Given the description of an element on the screen output the (x, y) to click on. 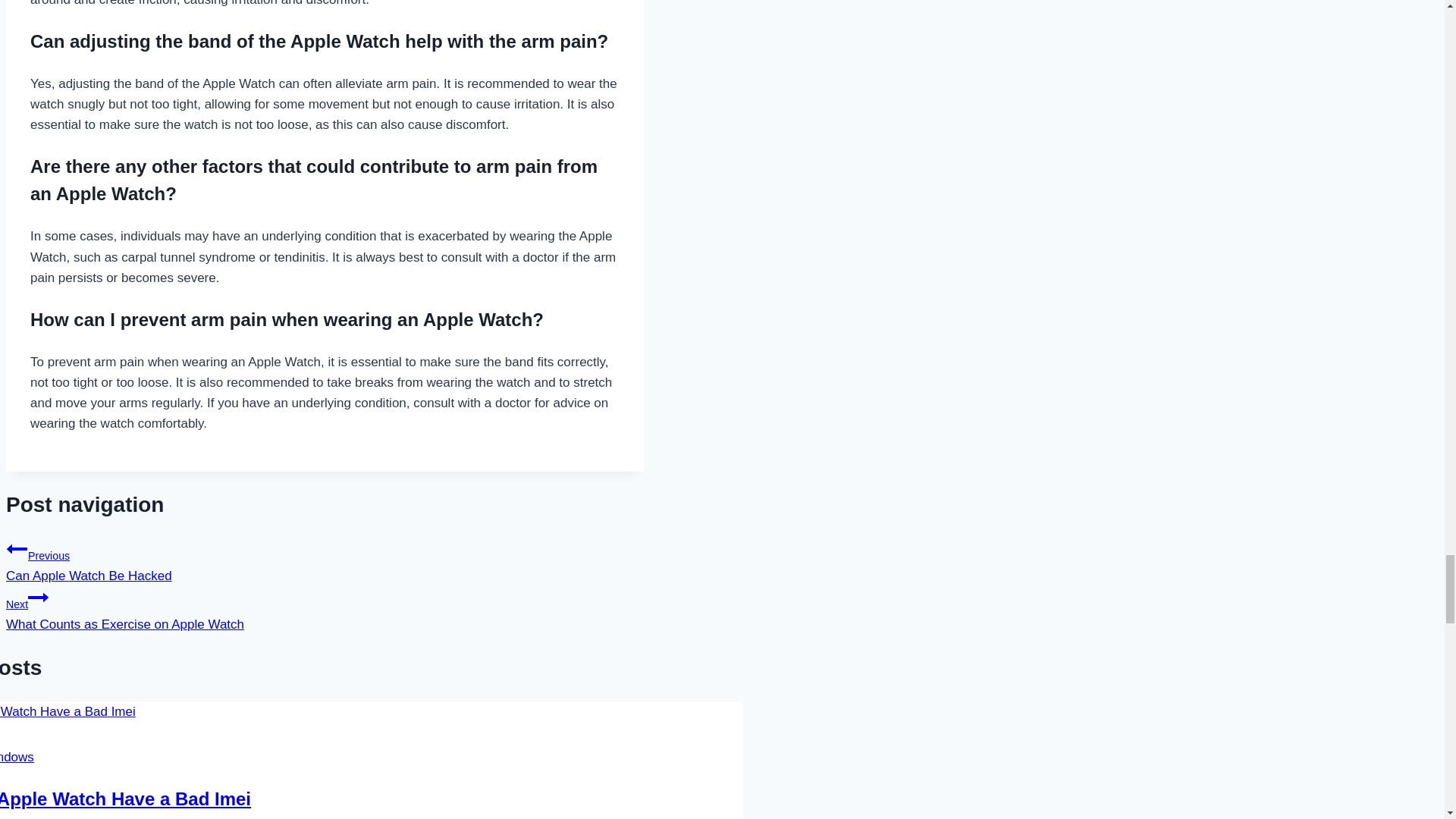
Previous (16, 548)
Continue (37, 597)
Can an Apple Watch Have a Bad Imei (325, 560)
Windows (125, 798)
